Given the description of an element on the screen output the (x, y) to click on. 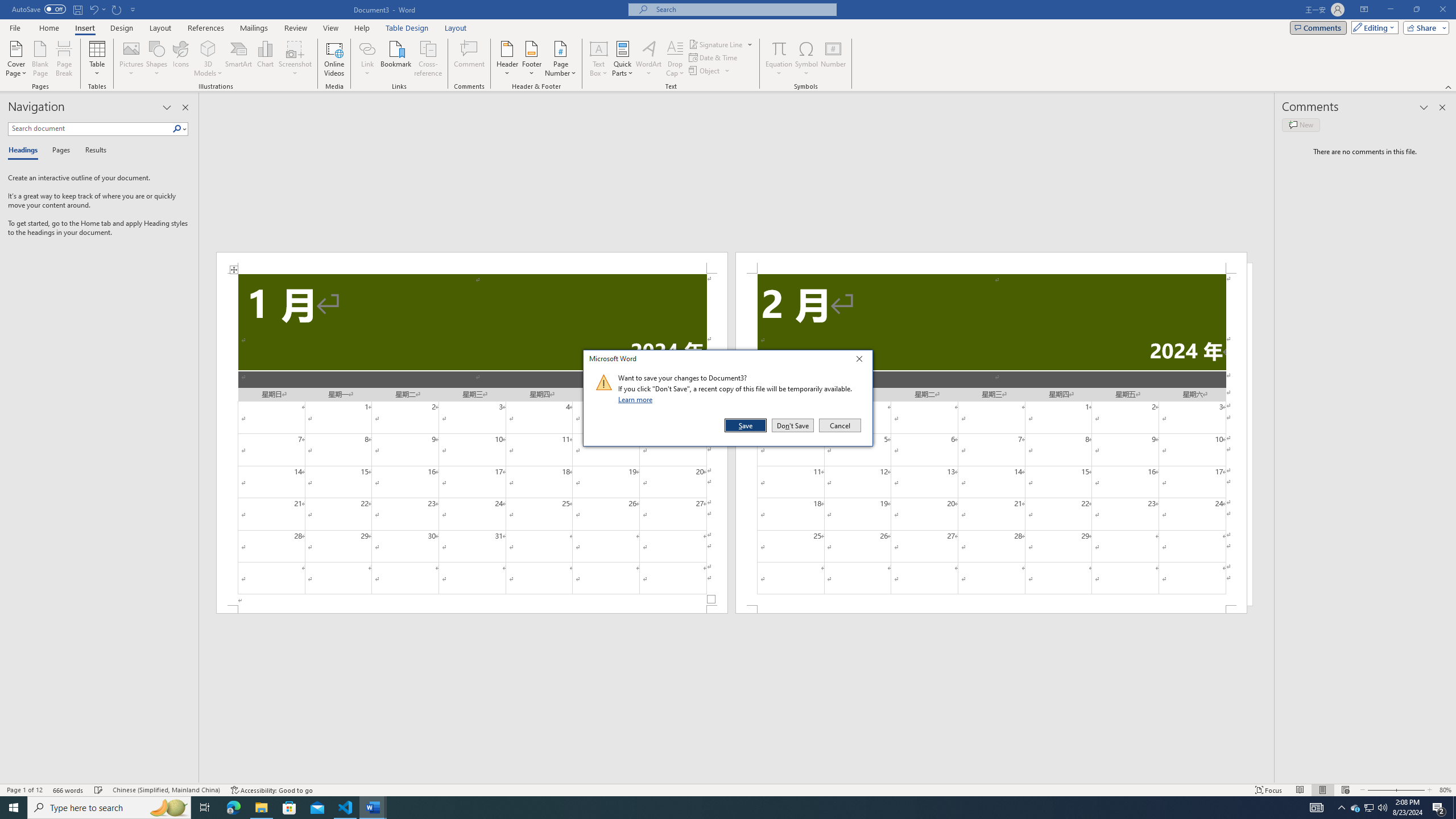
Comment (469, 58)
Cover Page (16, 58)
